Given the description of an element on the screen output the (x, y) to click on. 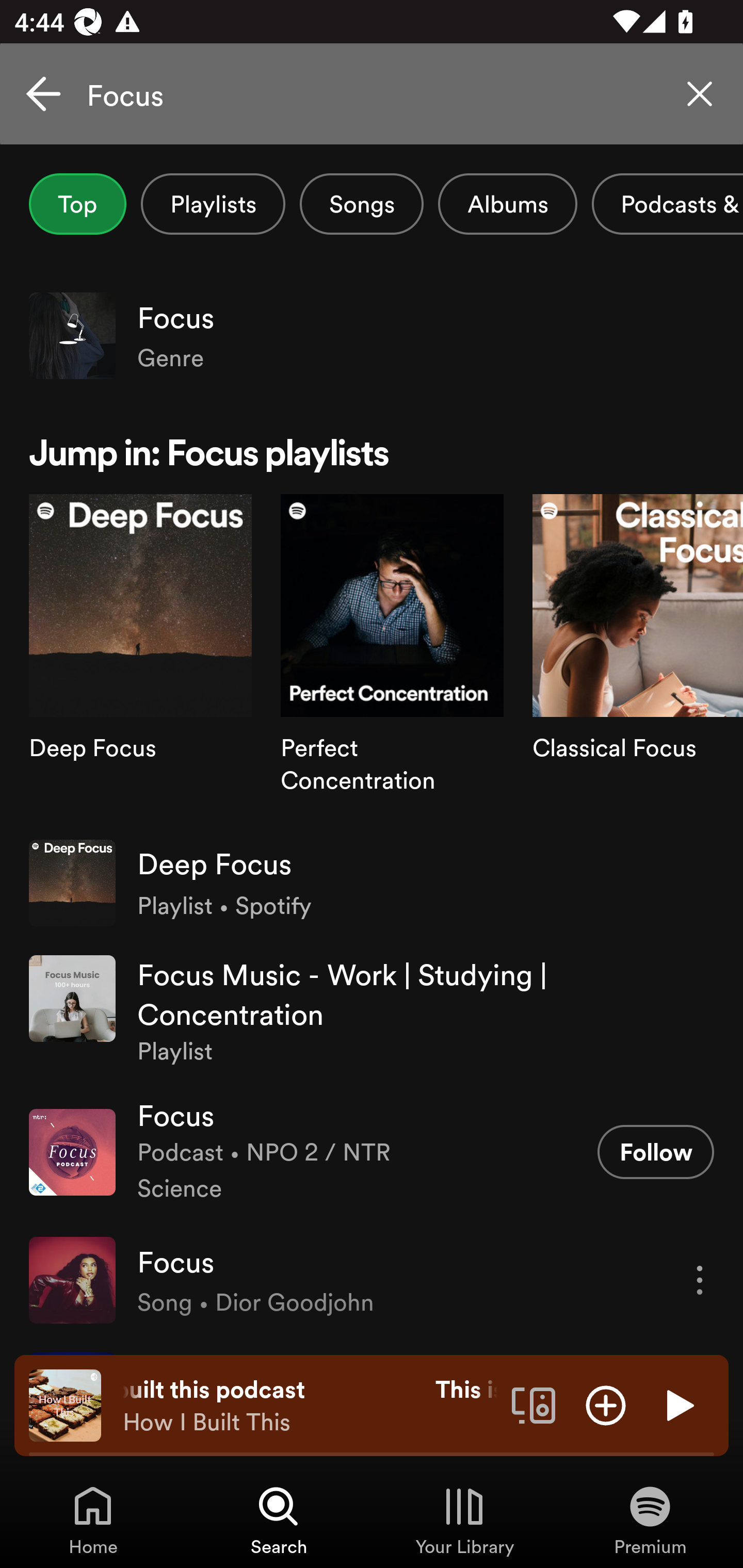
Focus (371, 93)
Cancel (43, 93)
Clear search query (699, 93)
Top (77, 203)
Playlists (213, 203)
Songs (361, 203)
Albums (507, 203)
Podcasts & Shows (667, 203)
Focus Genre (371, 335)
Search card image Deep Focus (139, 658)
Search card image Perfect Concentration (391, 658)
Search card image Classical Focus (637, 658)
Deep Focus Playlist • Spotify (371, 882)
Focus Podcast • NPO 2 / NTR Science Follow Follow (371, 1152)
Follow (655, 1151)
More options for song Focus (699, 1280)
The cover art of the currently playing track (64, 1404)
Connect to a device. Opens the devices menu (533, 1404)
Add item (605, 1404)
Play (677, 1404)
Home, Tab 1 of 4 Home Home (92, 1519)
Search, Tab 2 of 4 Search Search (278, 1519)
Your Library, Tab 3 of 4 Your Library Your Library (464, 1519)
Premium, Tab 4 of 4 Premium Premium (650, 1519)
